Given the description of an element on the screen output the (x, y) to click on. 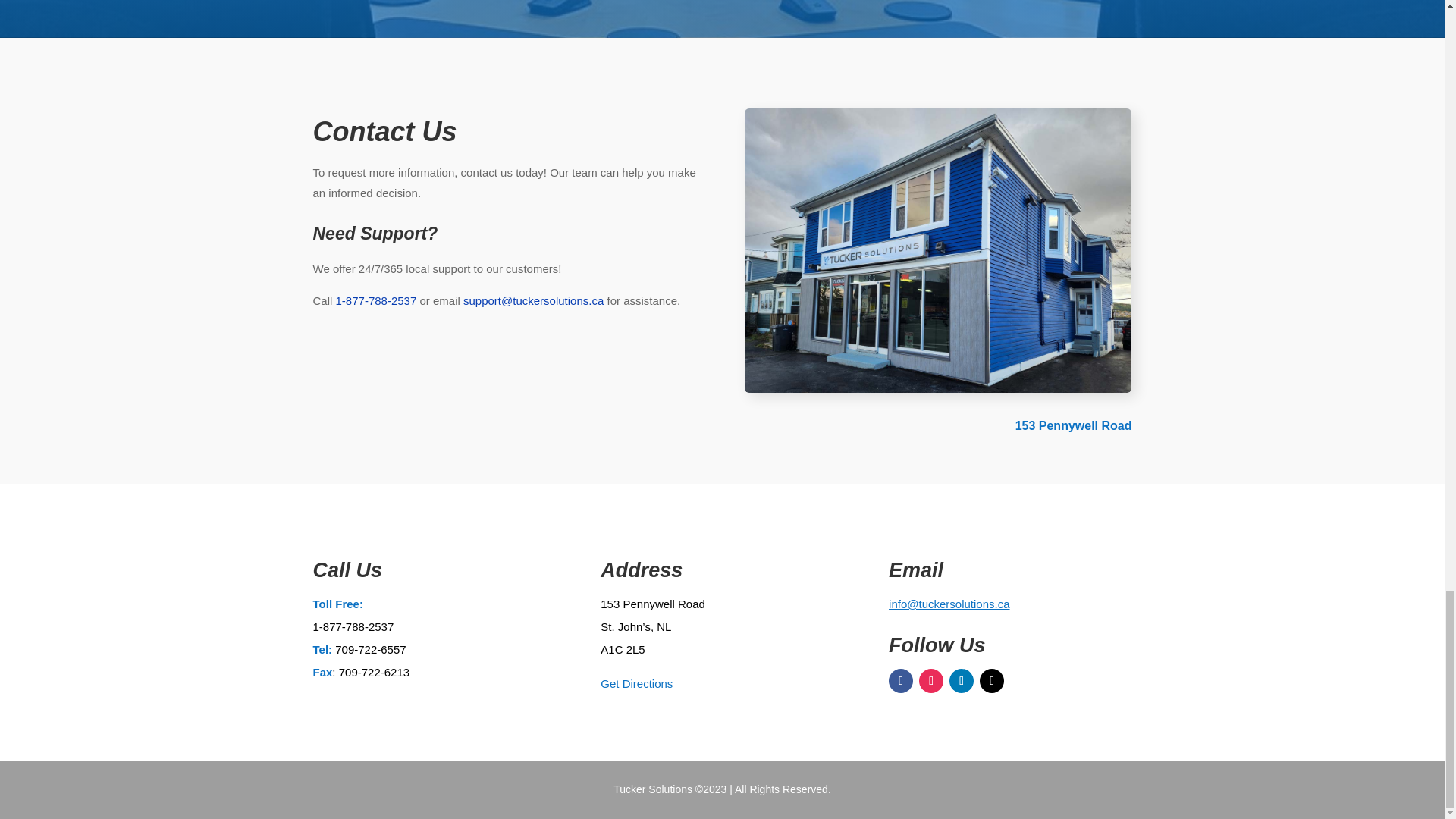
Follow on Instagram (930, 680)
1-877-788-2537 (376, 300)
Tucker Solutions (937, 250)
Follow on Facebook (900, 680)
Follow on X (991, 680)
Get Directions (635, 683)
1-877-788-2537 (353, 626)
Follow on LinkedIn (961, 680)
709-722-6557 (370, 649)
